Given the description of an element on the screen output the (x, y) to click on. 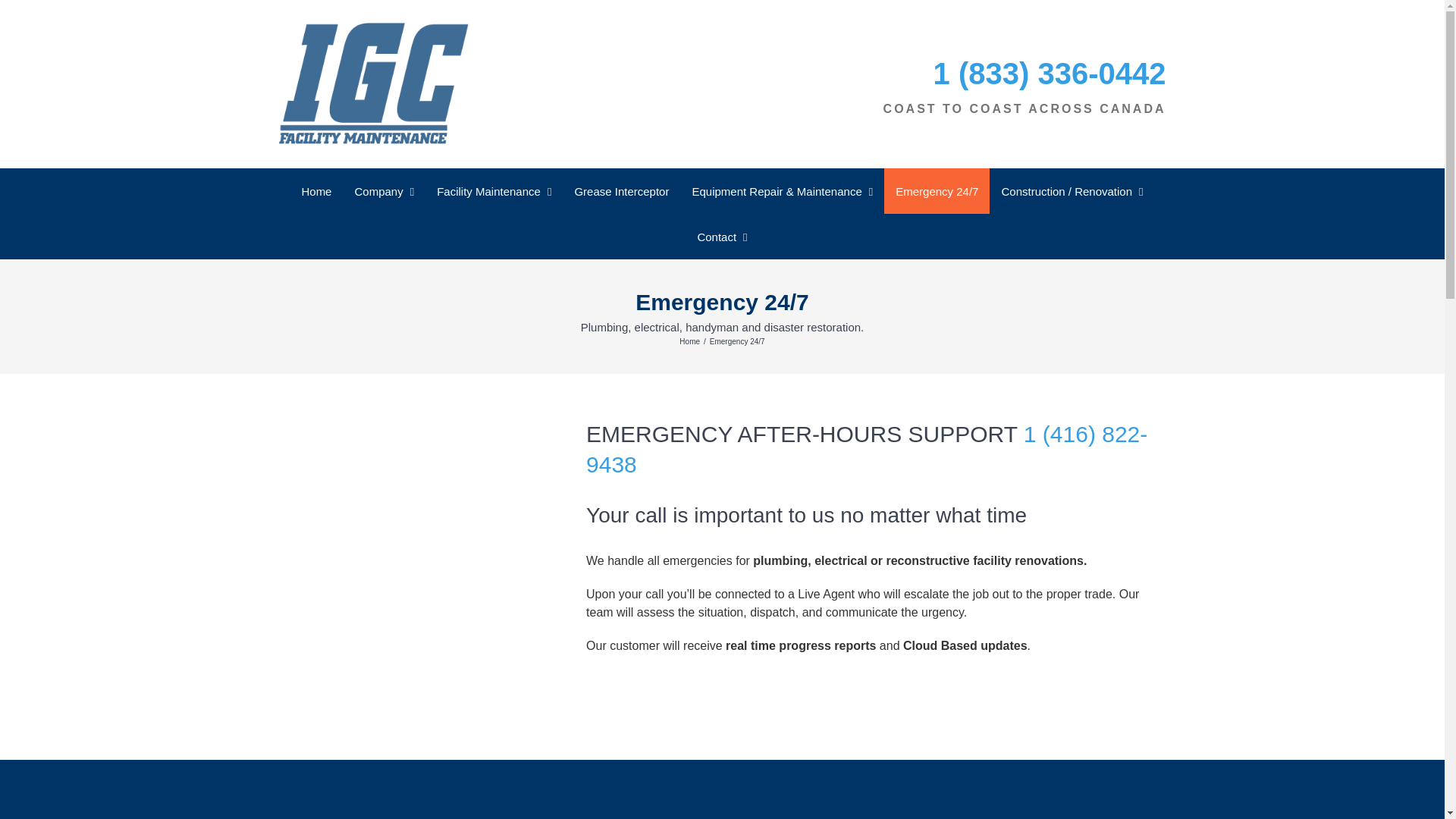
Facility Maintenance (493, 190)
Contact (721, 236)
Home (315, 190)
Grease Interceptor (620, 190)
Company (383, 190)
